Given the description of an element on the screen output the (x, y) to click on. 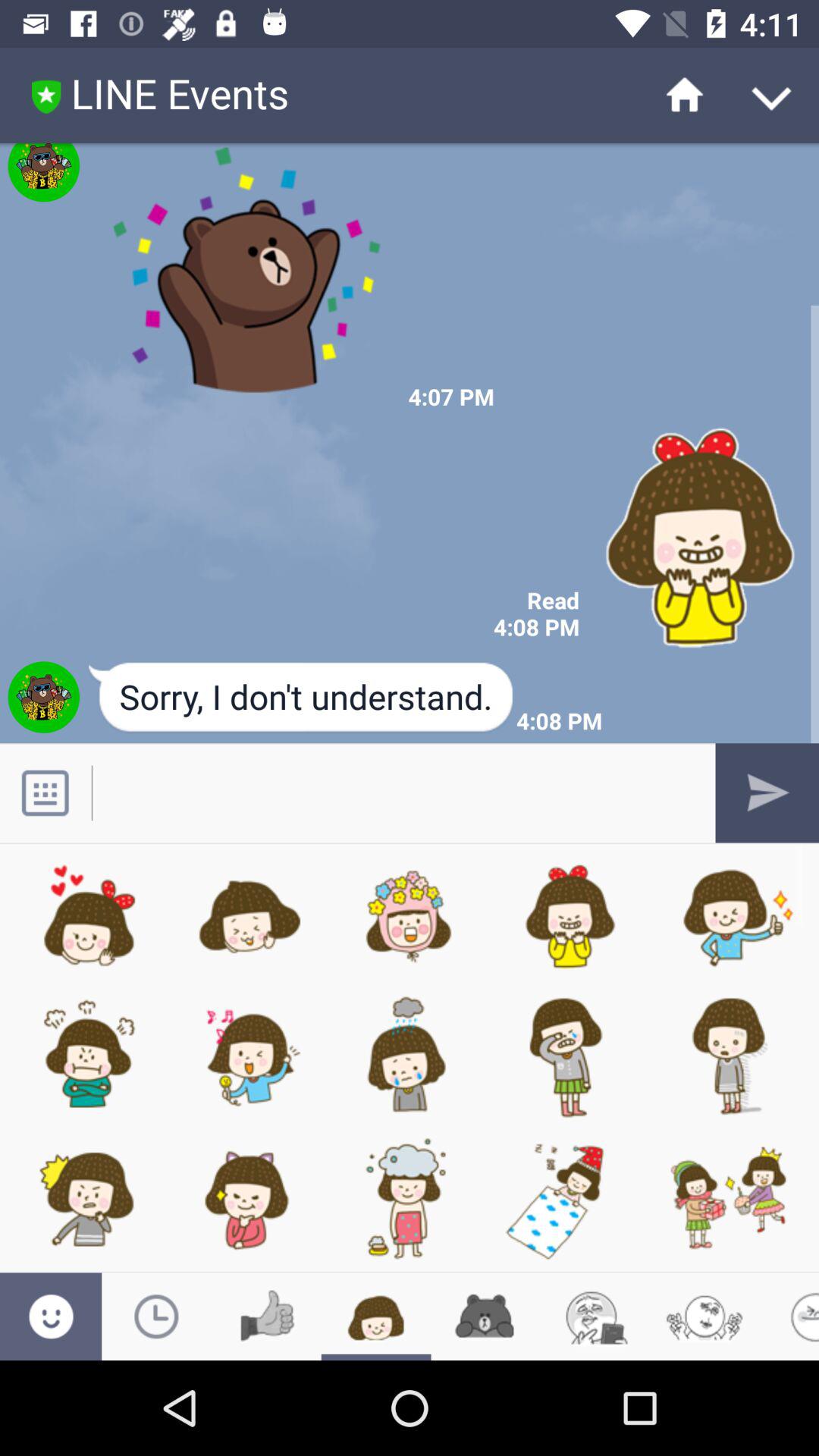
save sticker (247, 277)
